Given the description of an element on the screen output the (x, y) to click on. 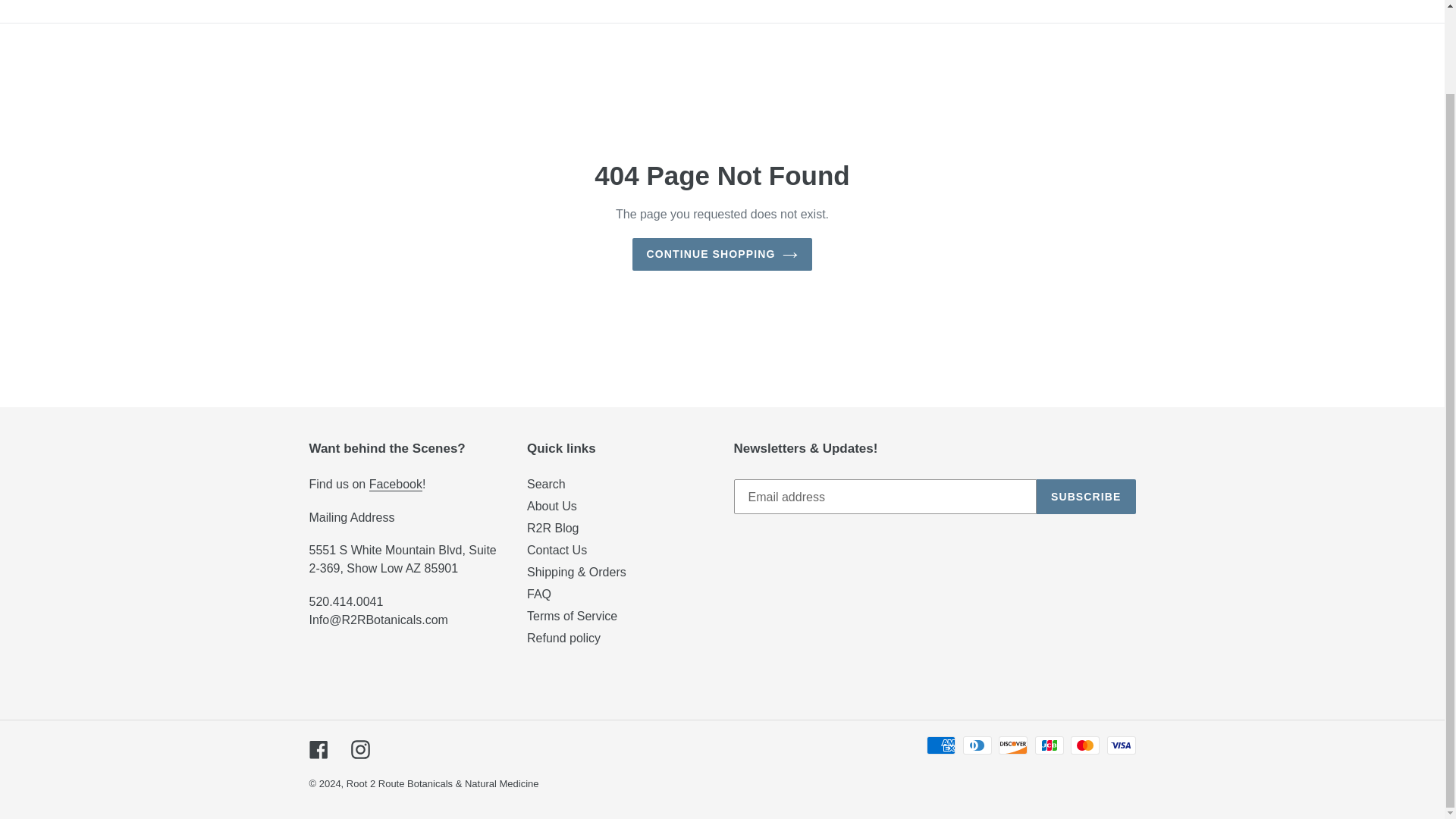
Facebook (395, 484)
Search (546, 483)
About Us (551, 505)
CONTINUE SHOPPING (721, 254)
R2R Blog (552, 527)
Contact Us (556, 549)
